Given the description of an element on the screen output the (x, y) to click on. 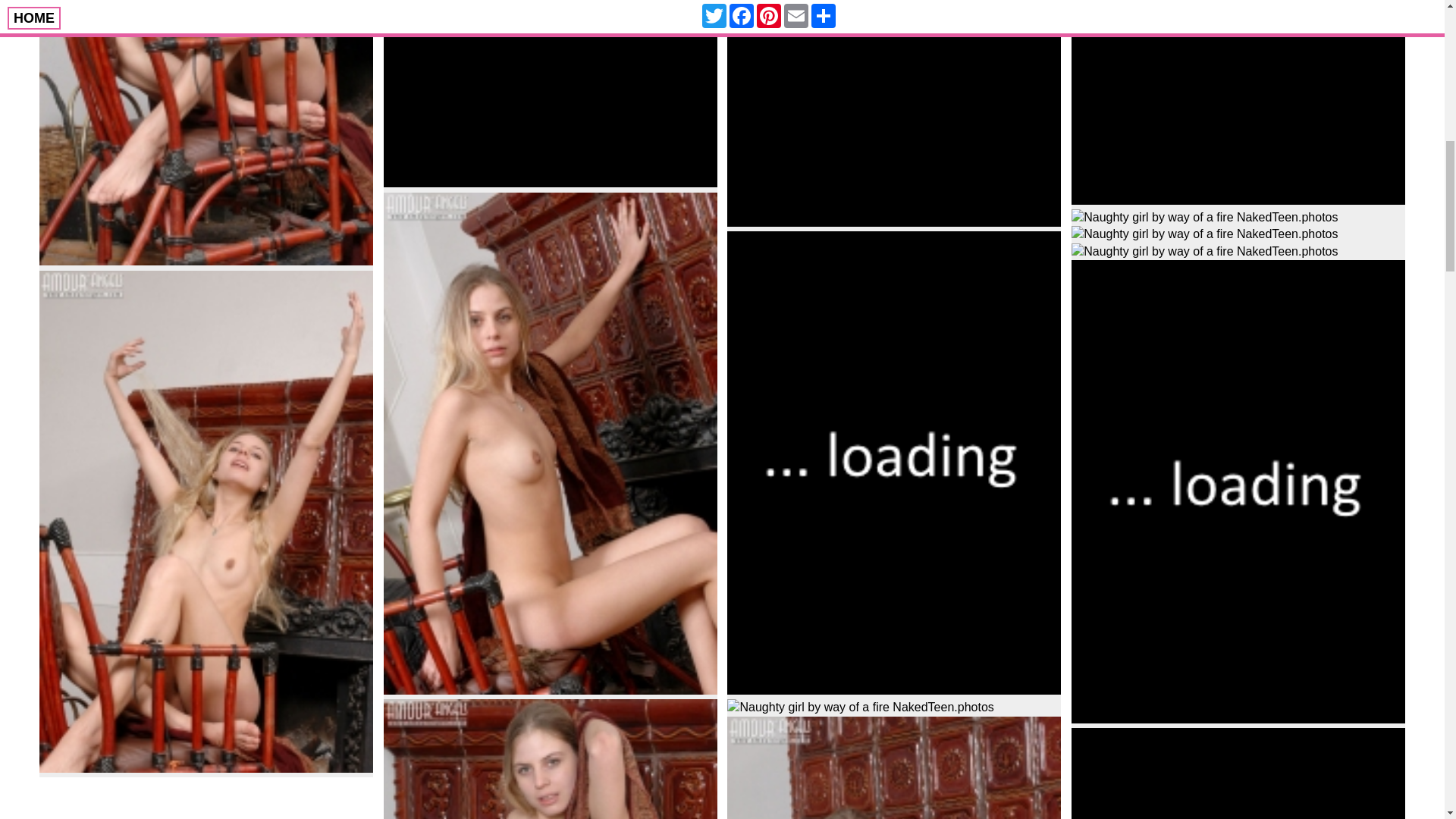
Naughty girl by way of a fire   NakedTeen.photos (550, 93)
Naughty girl by way of a fire   NakedTeen.photos (1204, 217)
Naughty girl by way of a fire   NakedTeen.photos (205, 132)
Naughty girl by way of a fire   NakedTeen.photos (550, 759)
Naughty girl by way of a fire   NakedTeen.photos (1204, 234)
Naughty girl by way of a fire   NakedTeen.photos (1238, 102)
Naughty girl by way of a fire   NakedTeen.photos (893, 113)
Naughty girl by way of a fire   NakedTeen.photos (893, 767)
Naughty girl by way of a fire   NakedTeen.photos (1238, 773)
Naughty girl by way of a fire   NakedTeen.photos (859, 707)
